Given the description of an element on the screen output the (x, y) to click on. 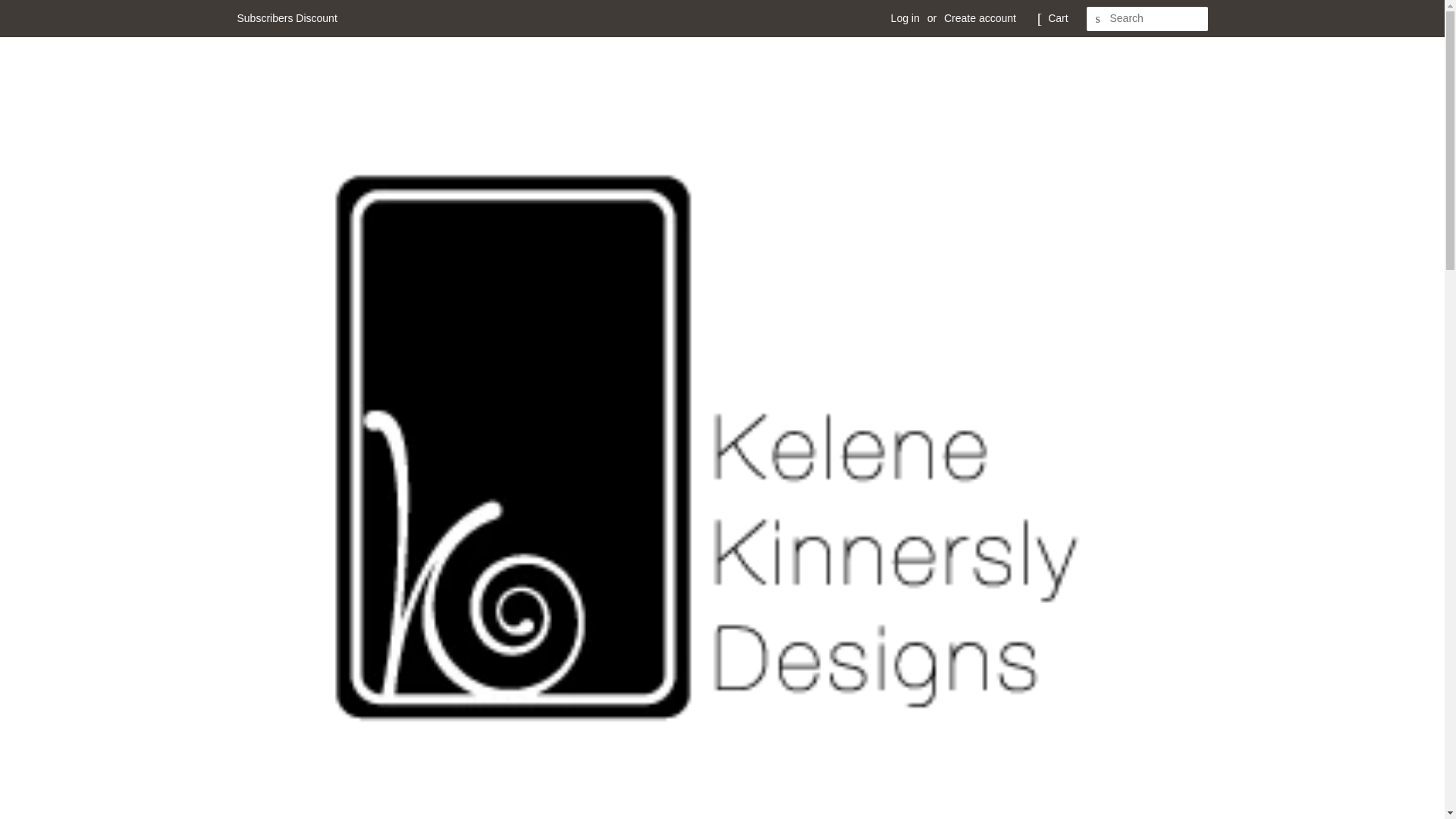
Subscribers Discount (285, 18)
Log in (905, 18)
Cart (1057, 18)
SEARCH (1097, 18)
Create account (979, 18)
